Given the description of an element on the screen output the (x, y) to click on. 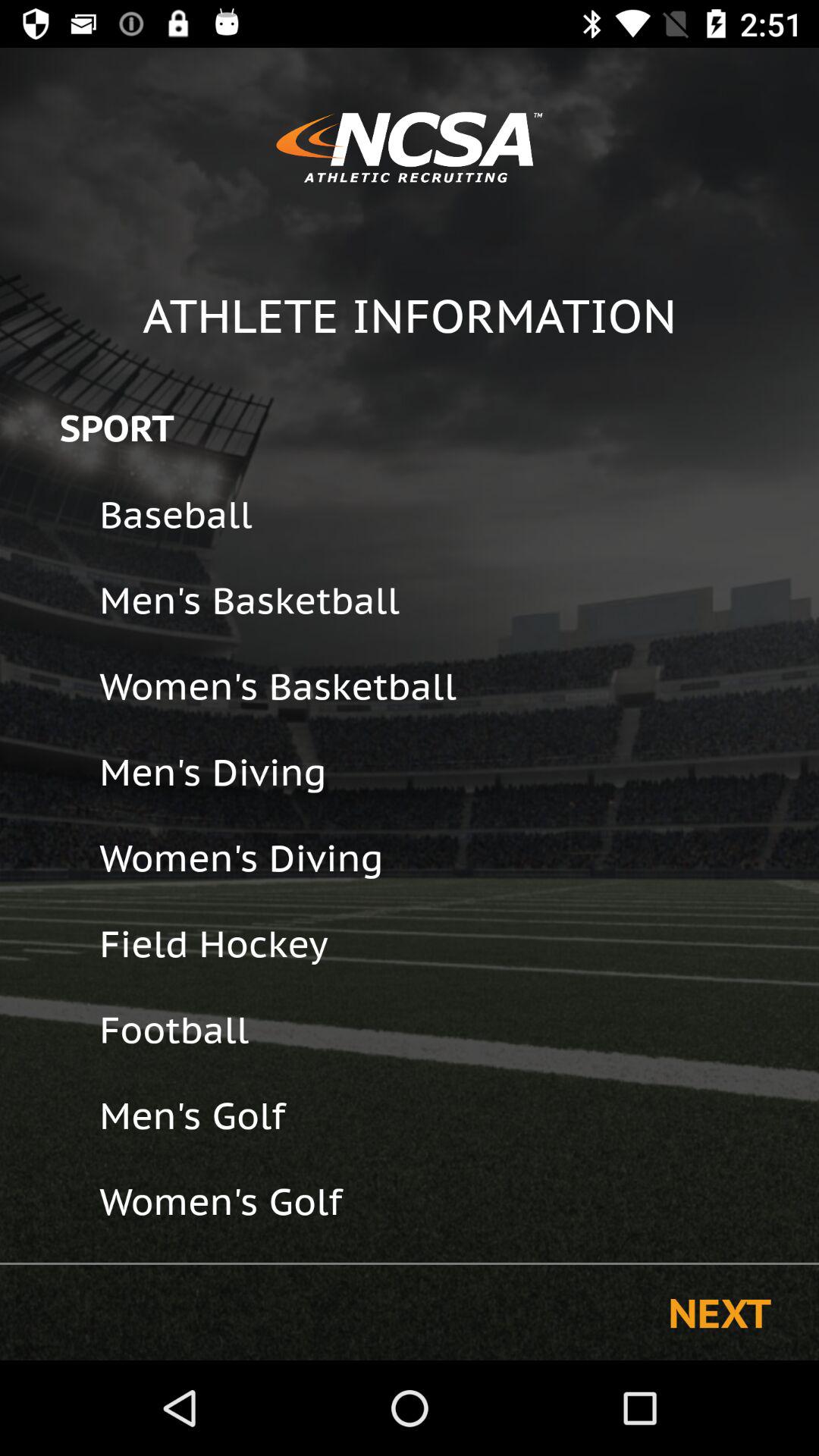
launch the field hockey icon (449, 943)
